Given the description of an element on the screen output the (x, y) to click on. 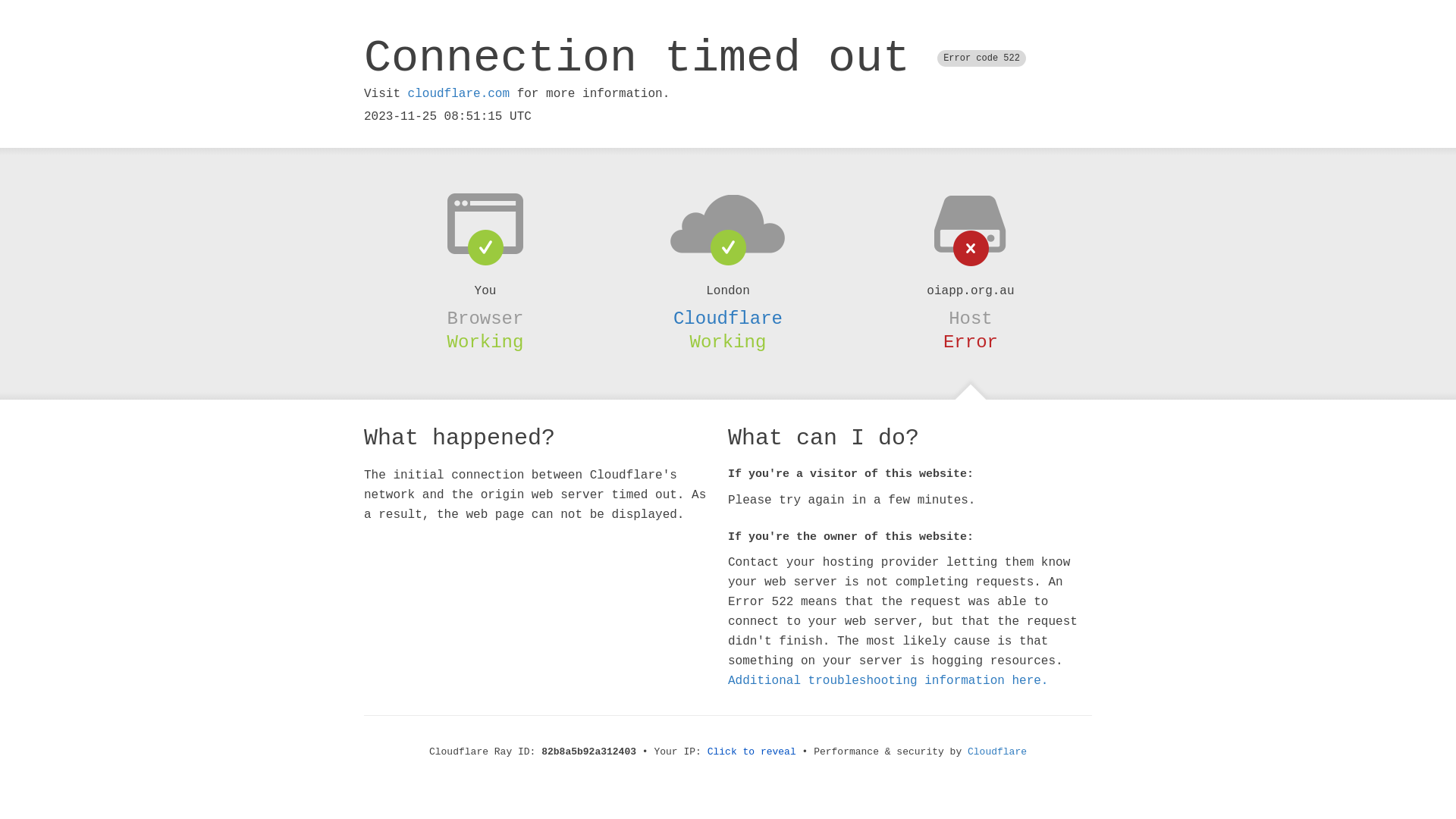
cloudflare.com Element type: text (458, 93)
Additional troubleshooting information here. Element type: text (888, 680)
Cloudflare Element type: text (996, 751)
Cloudflare Element type: text (727, 318)
Click to reveal Element type: text (751, 751)
